Given the description of an element on the screen output the (x, y) to click on. 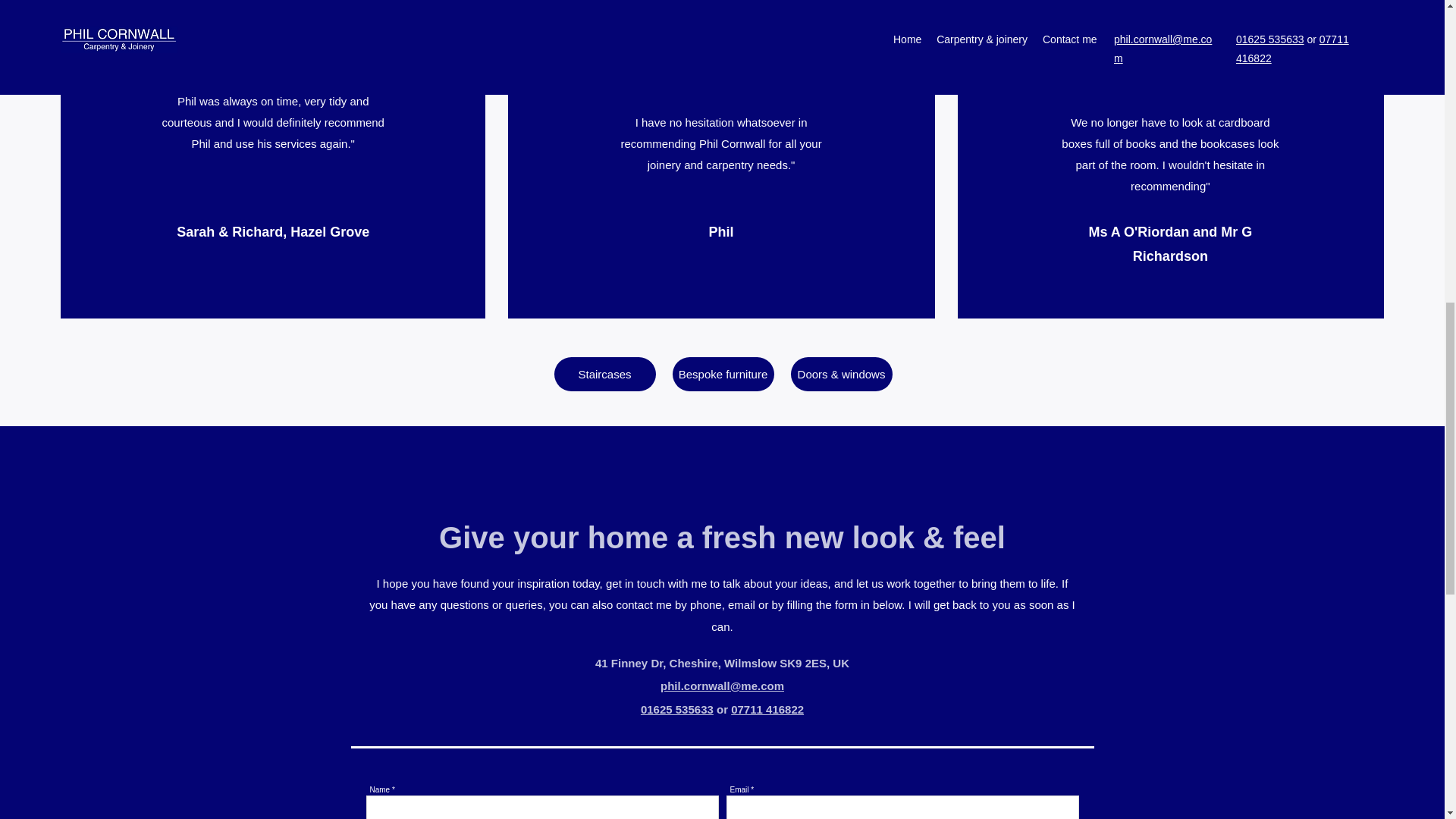
07711 416822 (766, 708)
Bespoke furniture (722, 374)
Staircases (604, 374)
01625 535633 (676, 708)
